Given the description of an element on the screen output the (x, y) to click on. 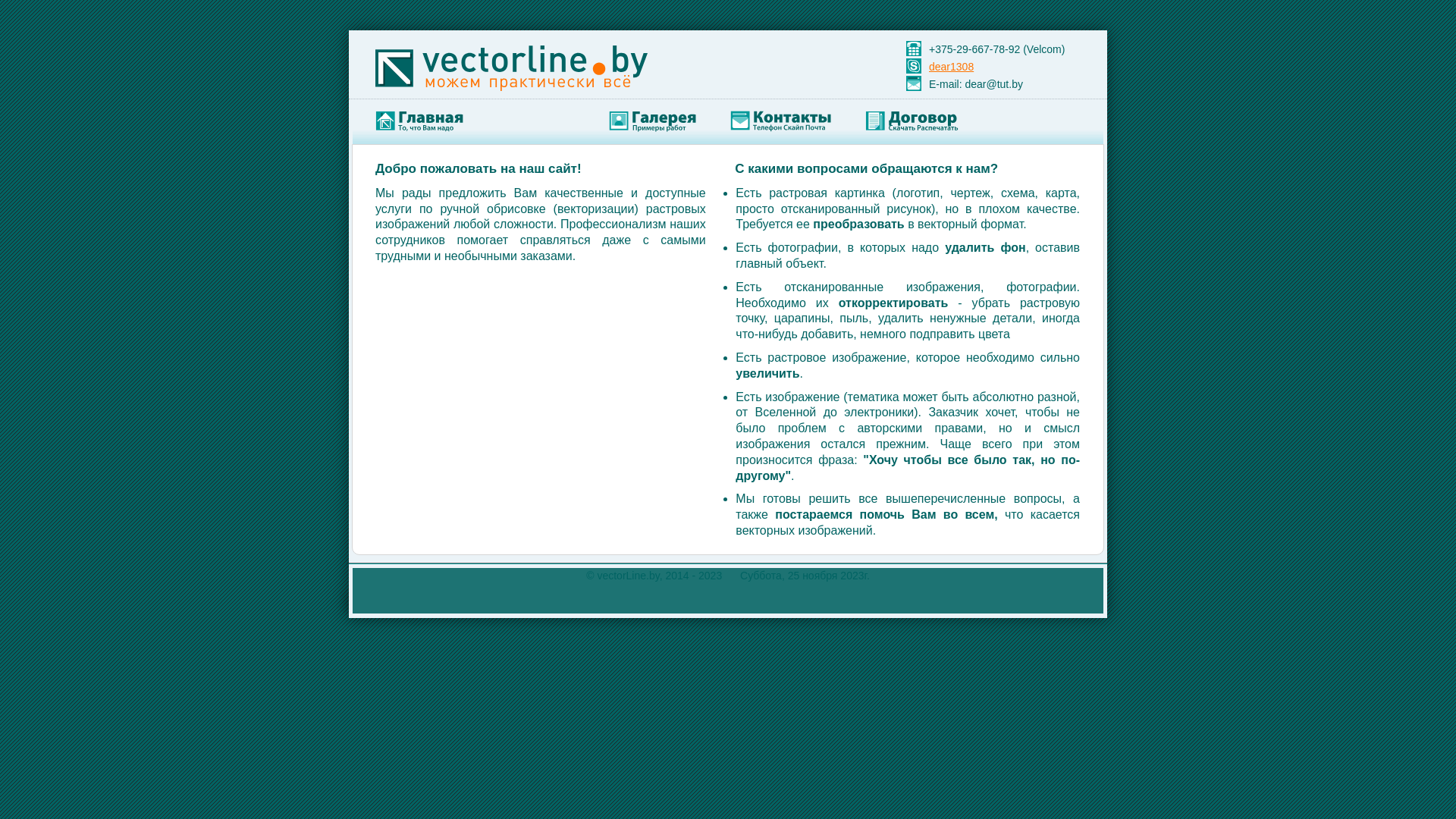
dear1308 Element type: text (950, 66)
